Given the description of an element on the screen output the (x, y) to click on. 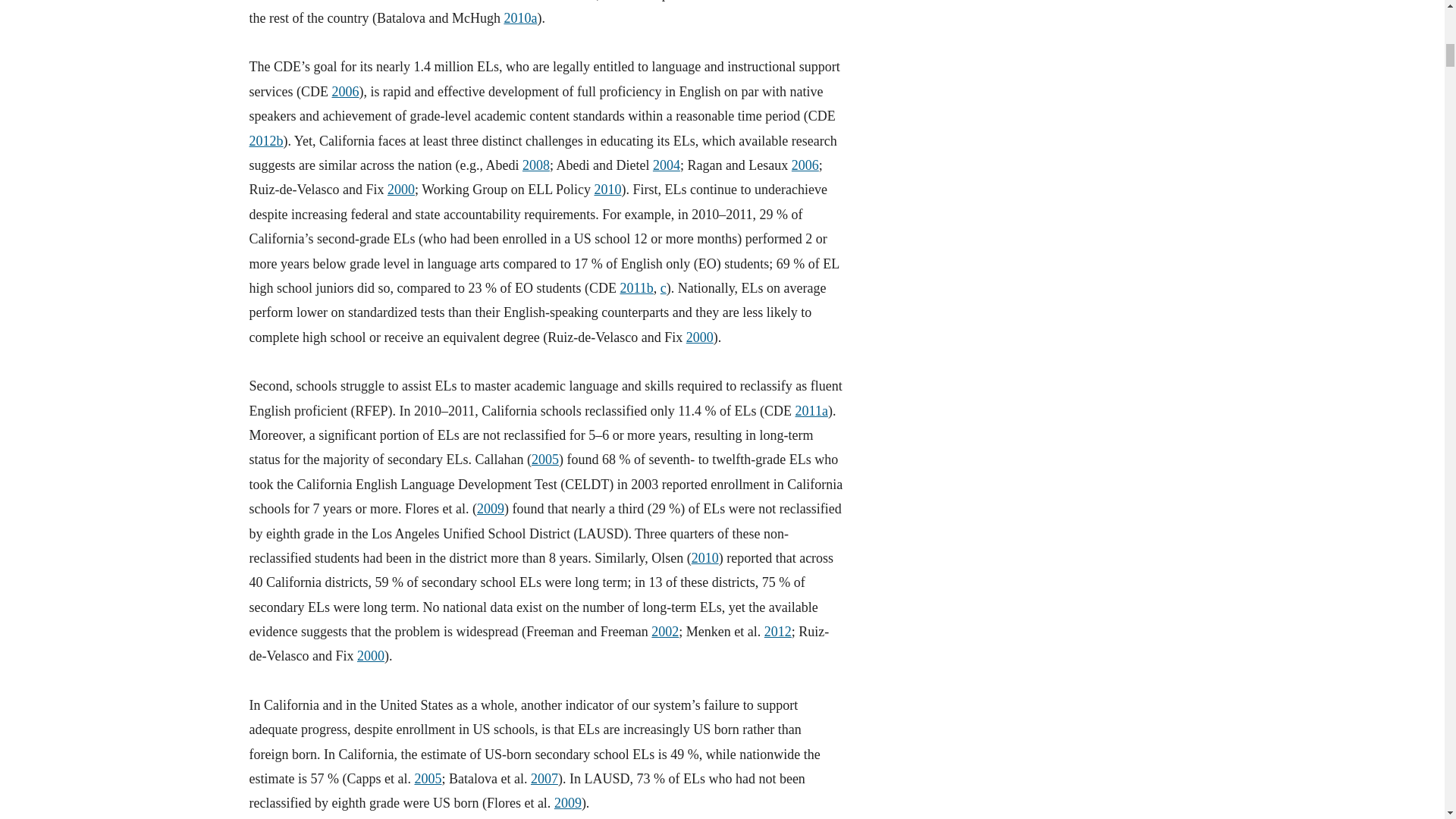
2004 (665, 165)
2006 (344, 91)
2008 (536, 165)
2012b (265, 140)
2010 (607, 189)
2010a (520, 17)
2006 (805, 165)
2000 (400, 189)
